Given the description of an element on the screen output the (x, y) to click on. 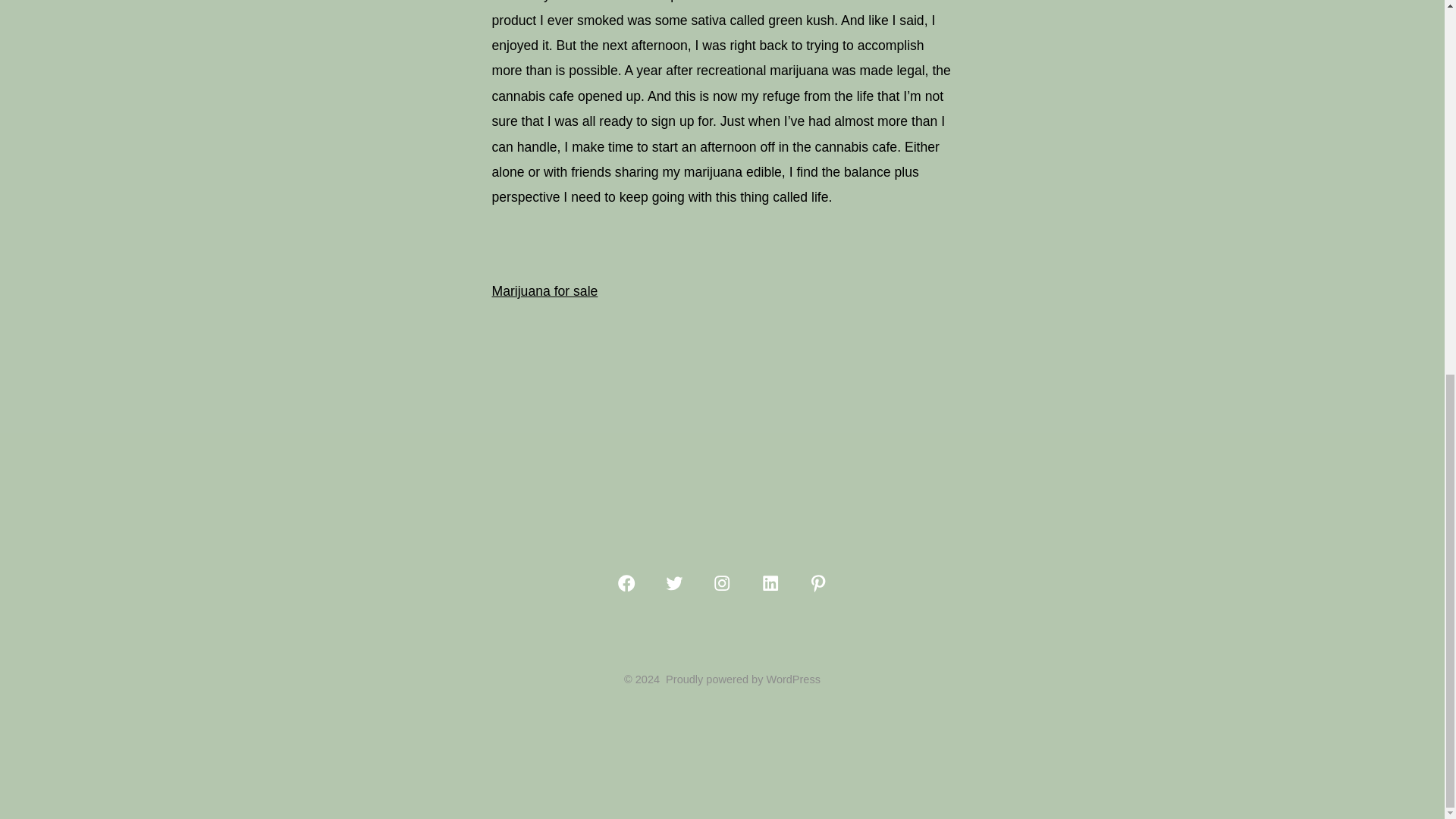
Marijuana for sale (544, 290)
Open Instagram in a new tab (722, 583)
Open LinkedIn in a new tab (770, 583)
Open Pinterest in a new tab (818, 583)
Open Twitter in a new tab (673, 583)
Open Facebook in a new tab (625, 583)
